Given the description of an element on the screen output the (x, y) to click on. 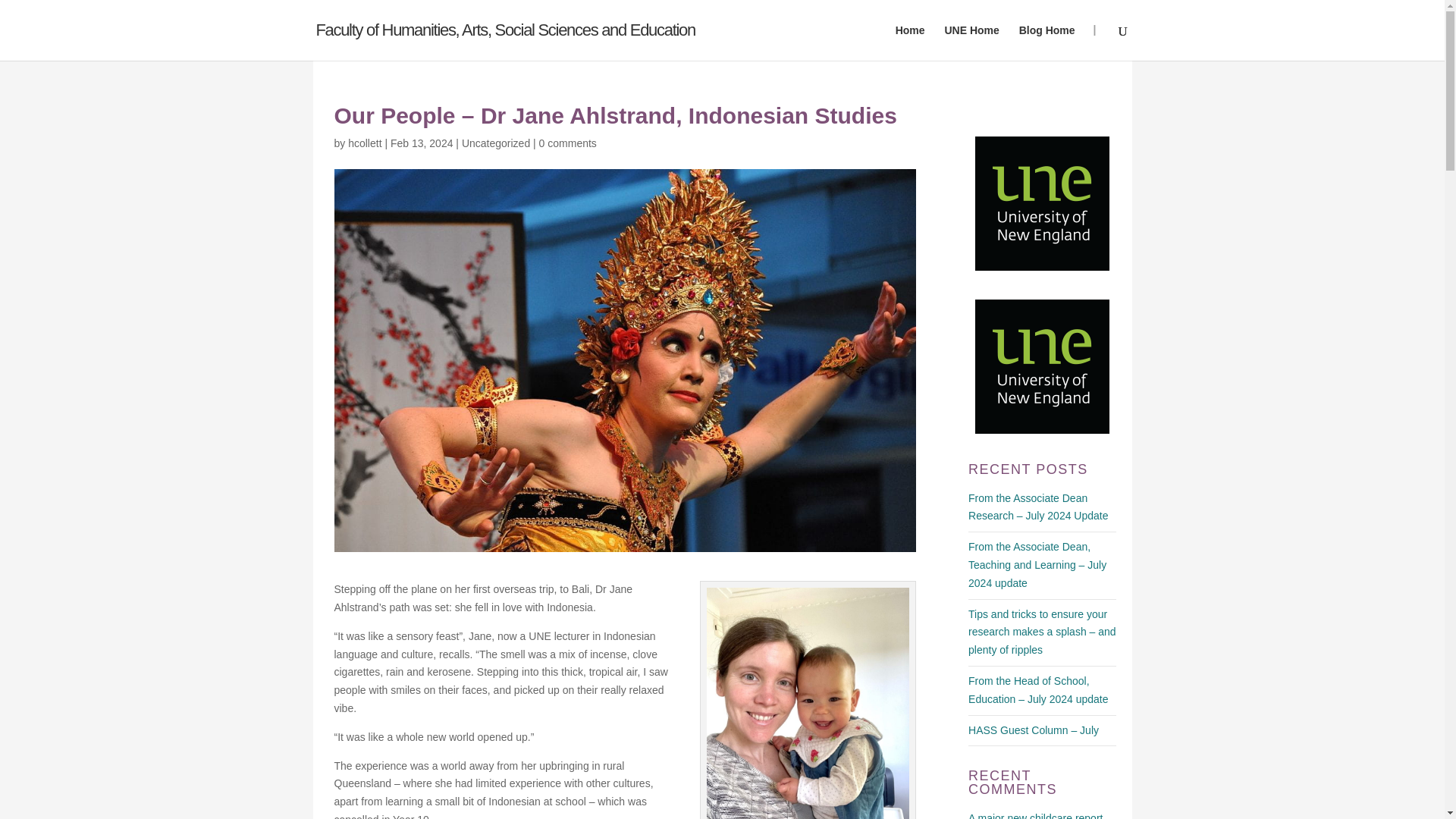
Uncategorized (495, 143)
Posts by hcollett (364, 143)
Blog Home (1047, 42)
UNE Home (970, 42)
0 comments (567, 143)
Faculty of Humanities, Arts, Social Sciences and Education (505, 29)
hcollett (364, 143)
